Given the description of an element on the screen output the (x, y) to click on. 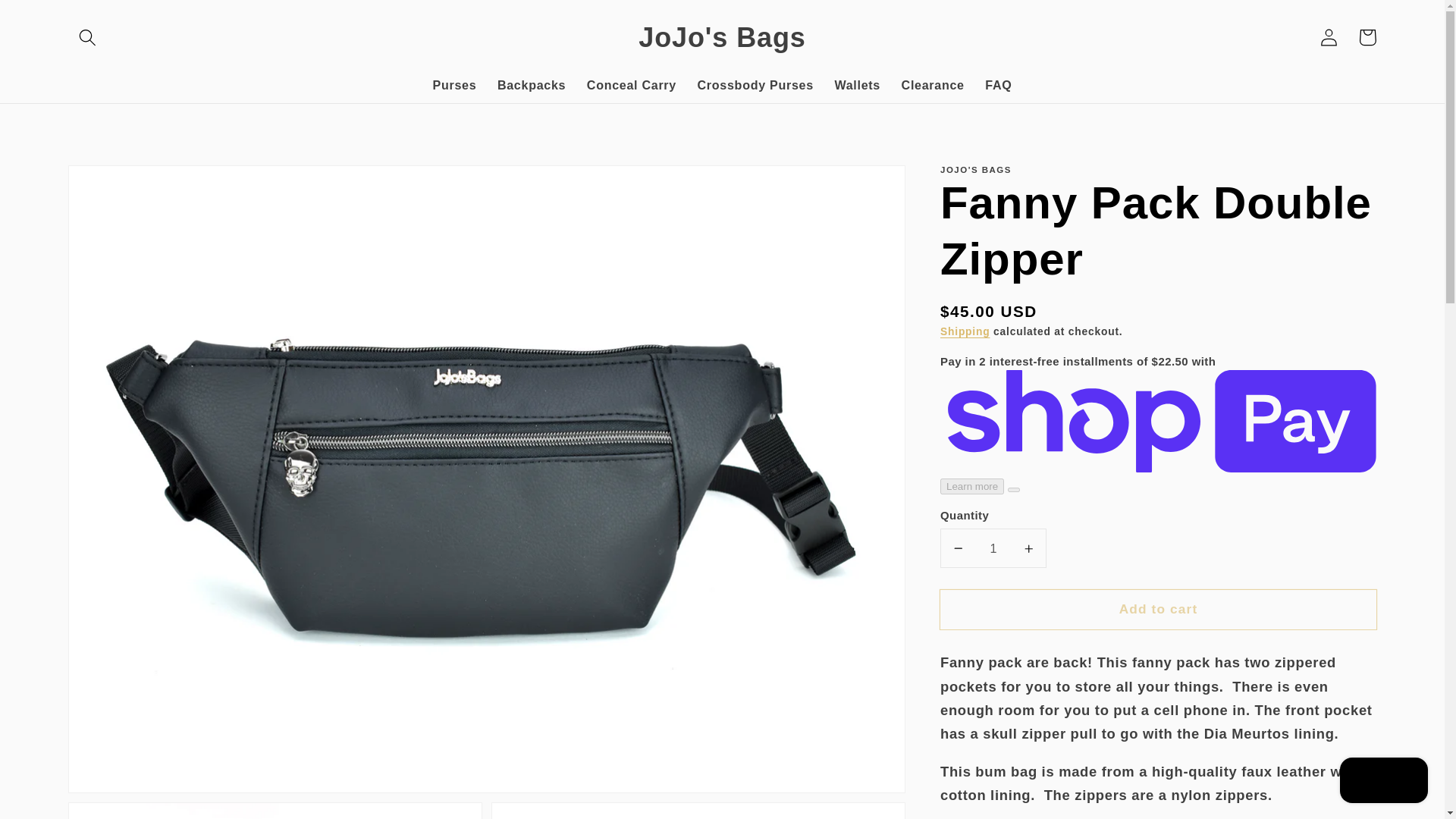
Clearance (933, 84)
JoJo's Bags (721, 37)
Wallets (857, 84)
Skip to content (51, 19)
Conceal Carry (631, 84)
Add to cart (1157, 609)
Crossbody Purses (755, 84)
Skip to product information (118, 183)
Increase quantity for Fanny Pack Double Zipper (1028, 548)
FAQ (999, 84)
